Given the description of an element on the screen output the (x, y) to click on. 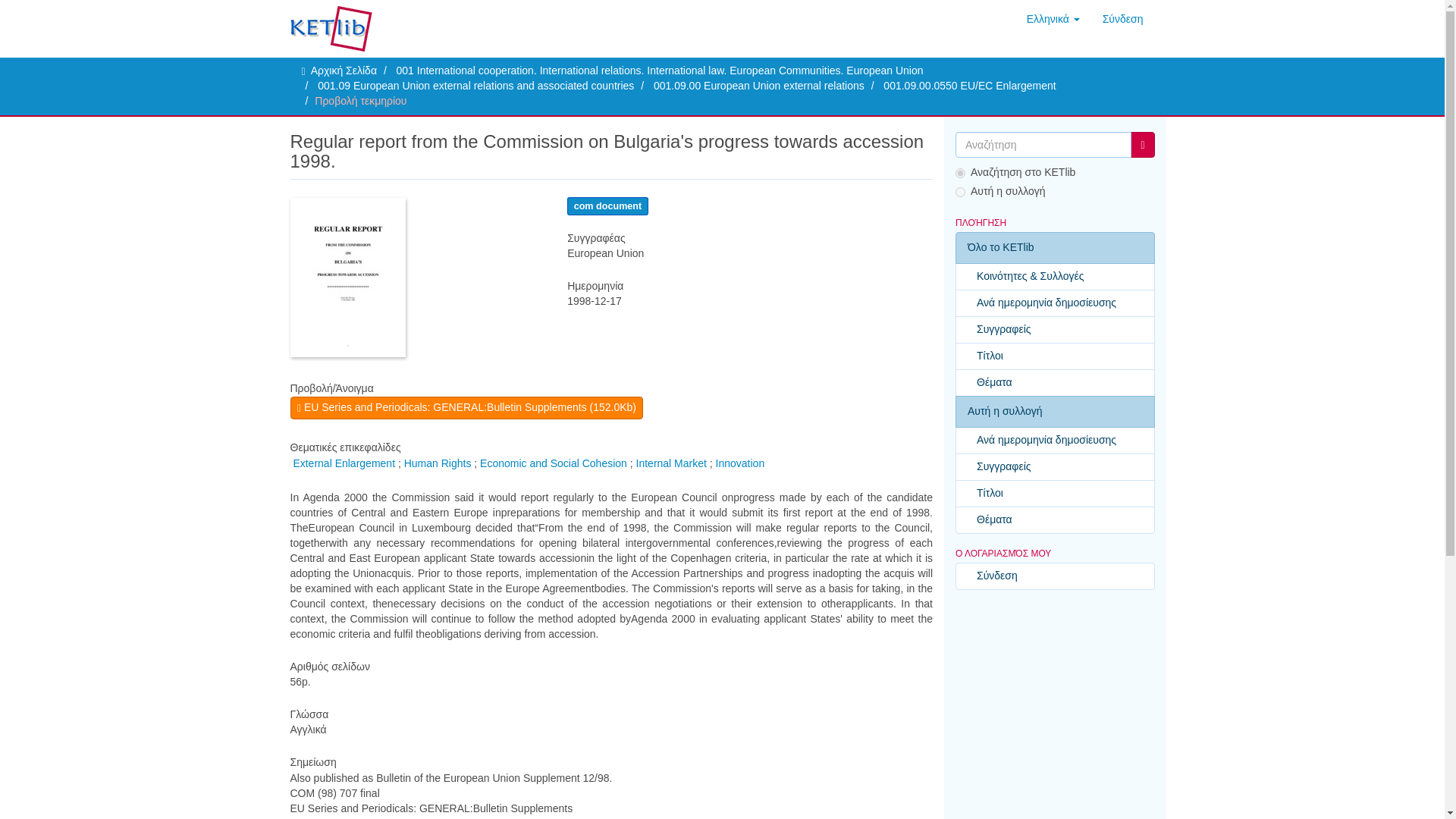
Human Rights (437, 463)
Internal Market (671, 463)
External Enlargement (343, 463)
Economic and Social Cohesion (553, 463)
Innovation (740, 463)
001.09.00 European Union external relations (758, 85)
